Given the description of an element on the screen output the (x, y) to click on. 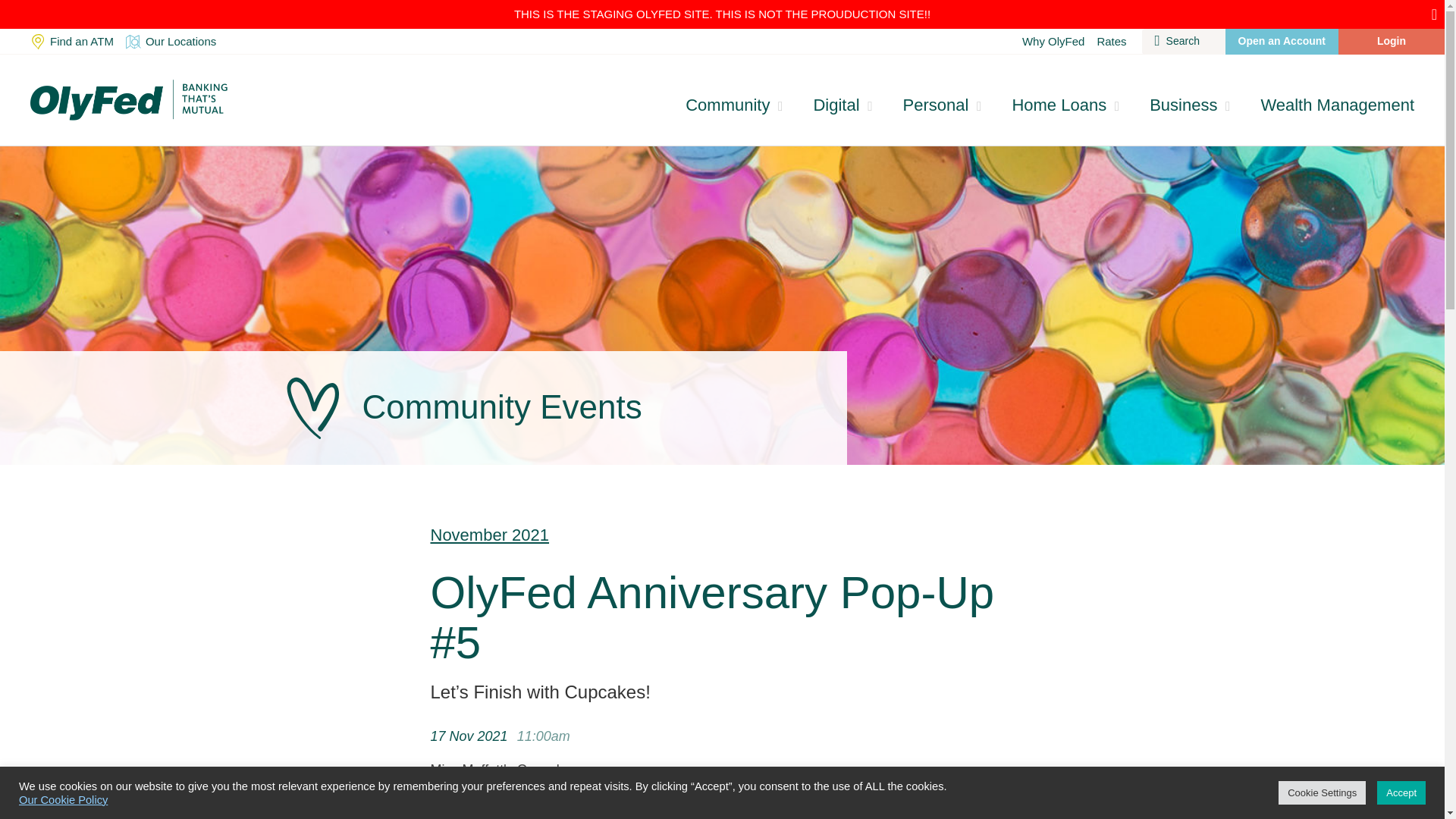
Our Locations (170, 41)
Search (1183, 41)
Open an Account (1281, 41)
Digital (841, 105)
Rates (1111, 41)
Why OlyFed (1053, 41)
Community (733, 105)
Find an ATM (71, 41)
Personal (942, 105)
